Given the description of an element on the screen output the (x, y) to click on. 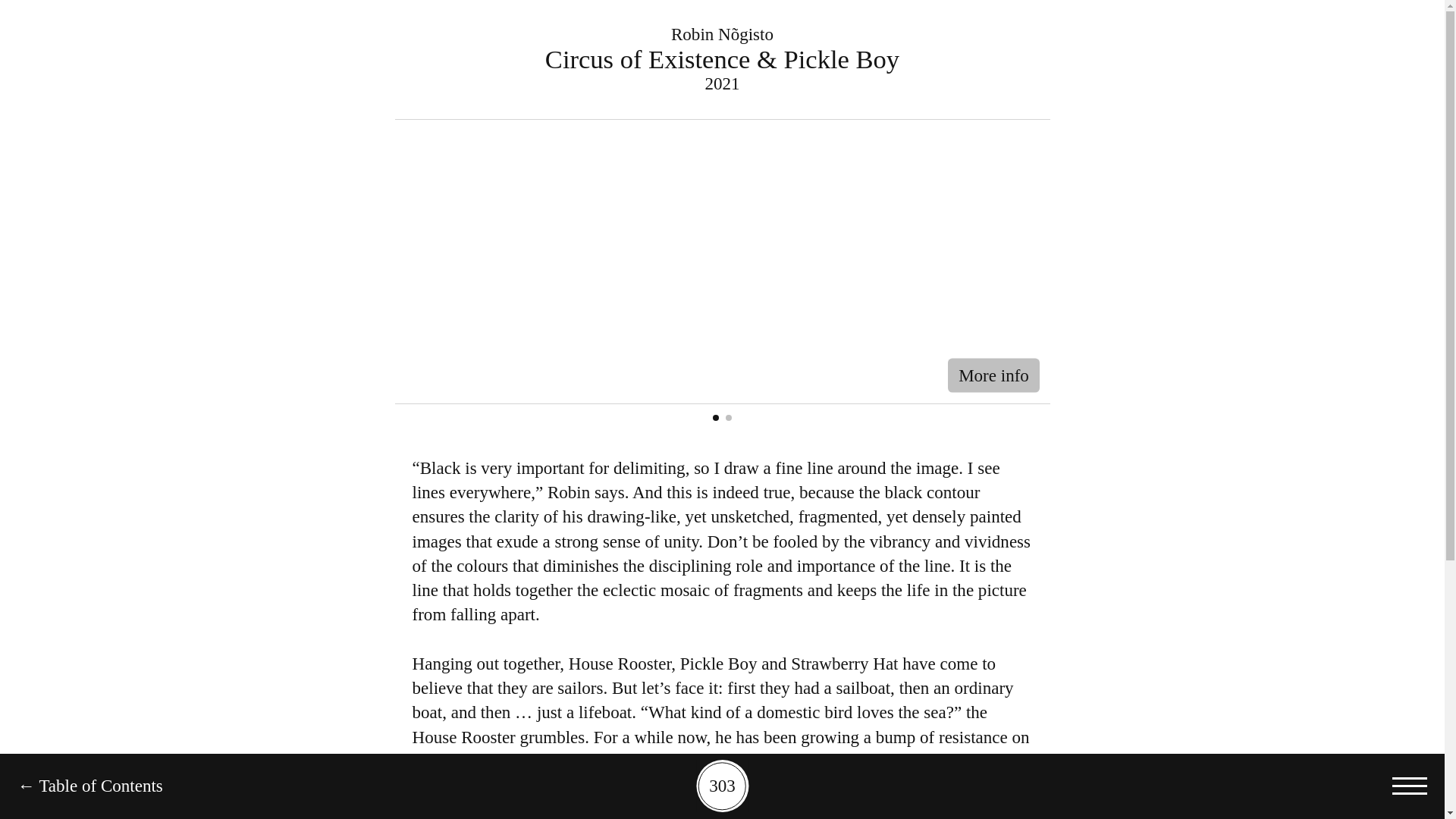
More info (993, 375)
303 (721, 786)
